Given the description of an element on the screen output the (x, y) to click on. 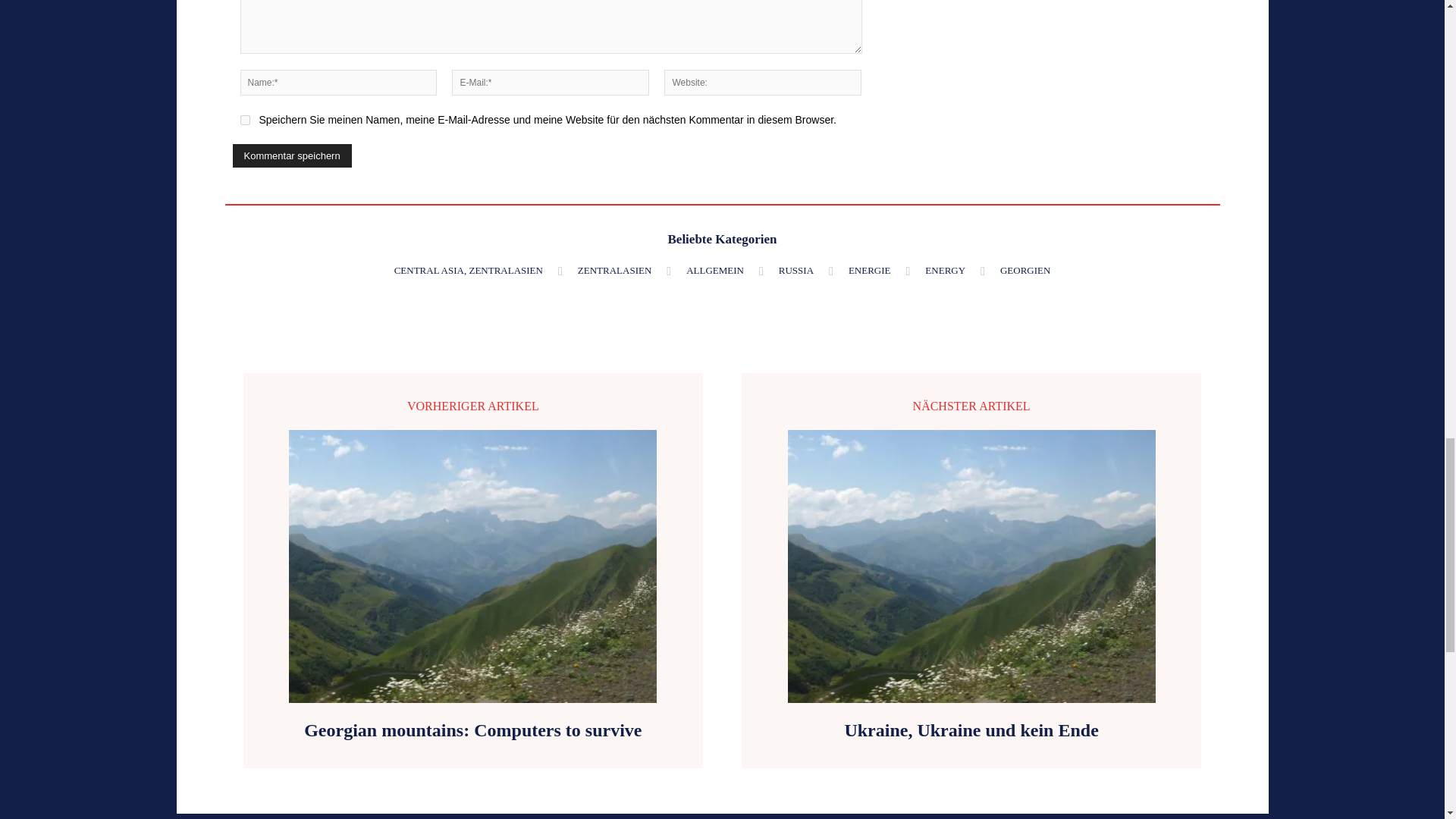
yes (244, 120)
Kommentar speichern (290, 155)
